Given the description of an element on the screen output the (x, y) to click on. 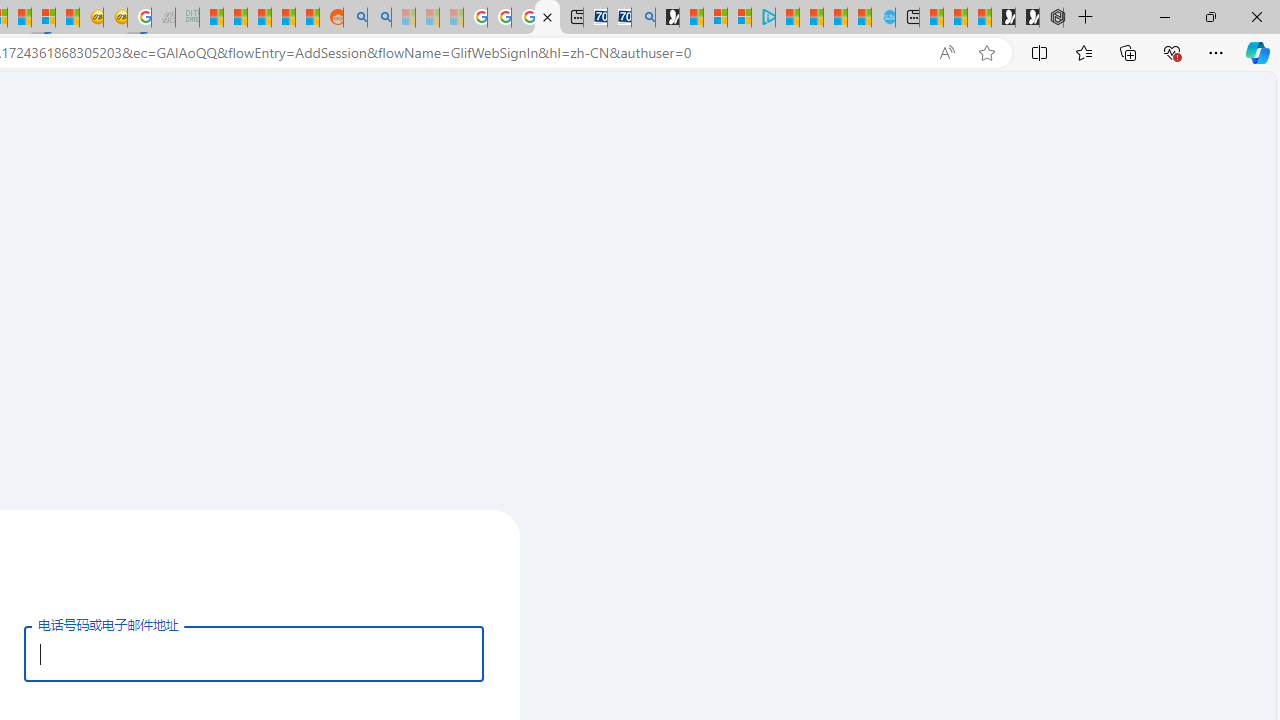
Bing Real Estate - Home sales and rental listings (643, 17)
Microsoft Start Gaming (667, 17)
